Given the description of an element on the screen output the (x, y) to click on. 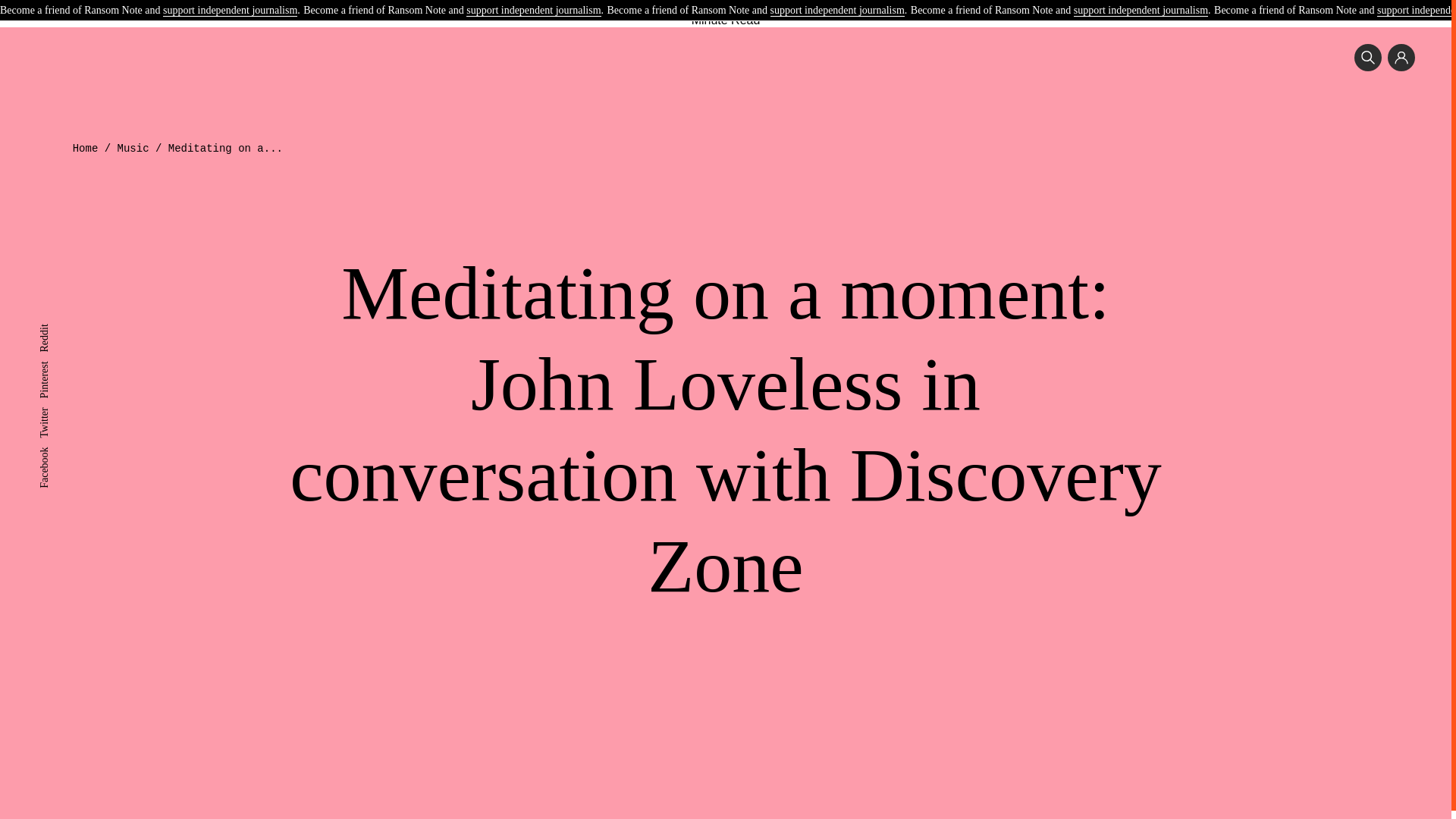
Music (133, 148)
Facebook (59, 452)
support independent journalism (1141, 10)
Twitter (53, 413)
support independent journalism (230, 10)
support independent journalism (532, 10)
Home (85, 148)
Music (558, 3)
Reddit (52, 329)
support independent journalism (837, 10)
